Given the description of an element on the screen output the (x, y) to click on. 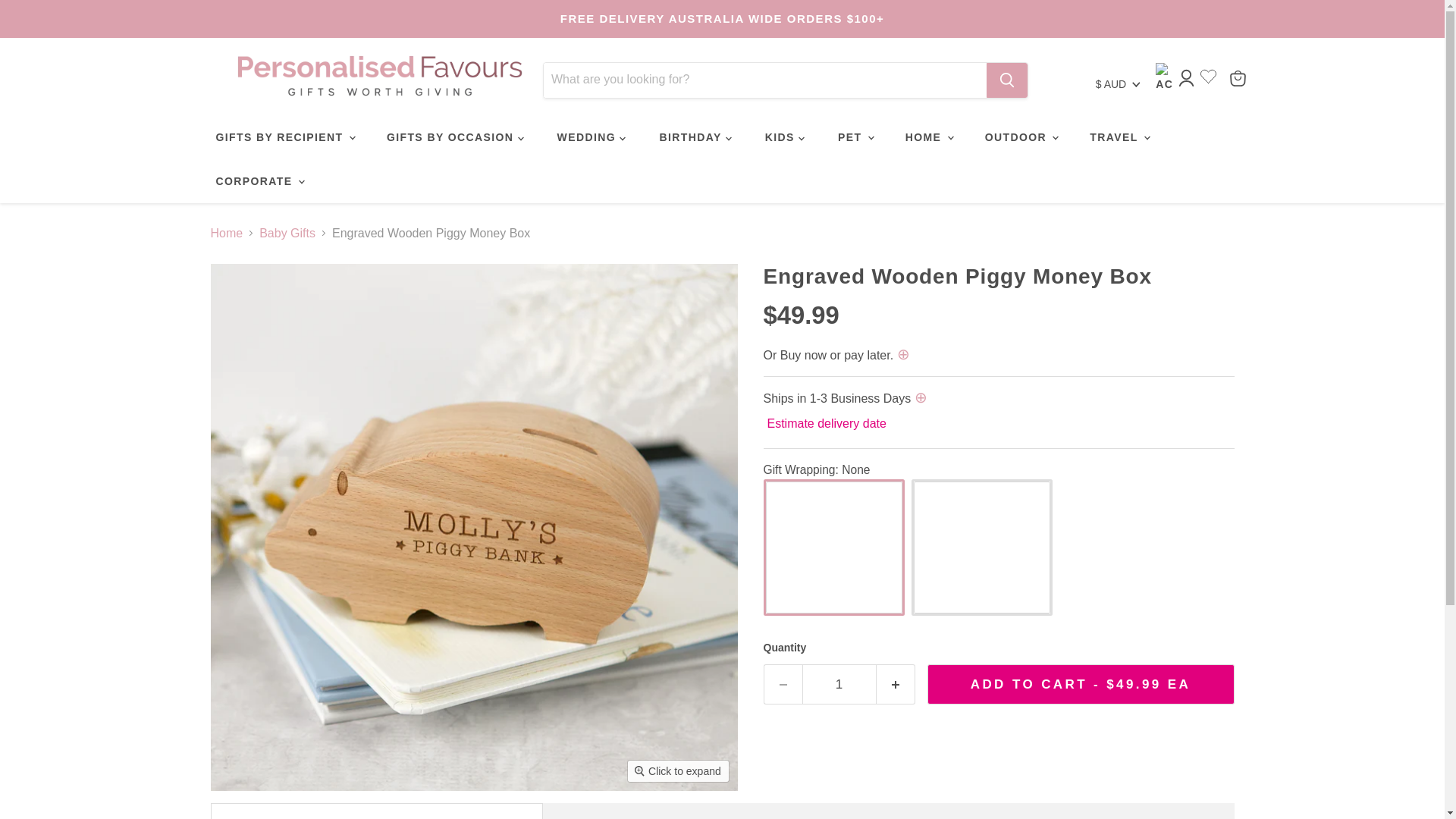
1 (839, 684)
VIEW CART (1238, 77)
